Given the description of an element on the screen output the (x, y) to click on. 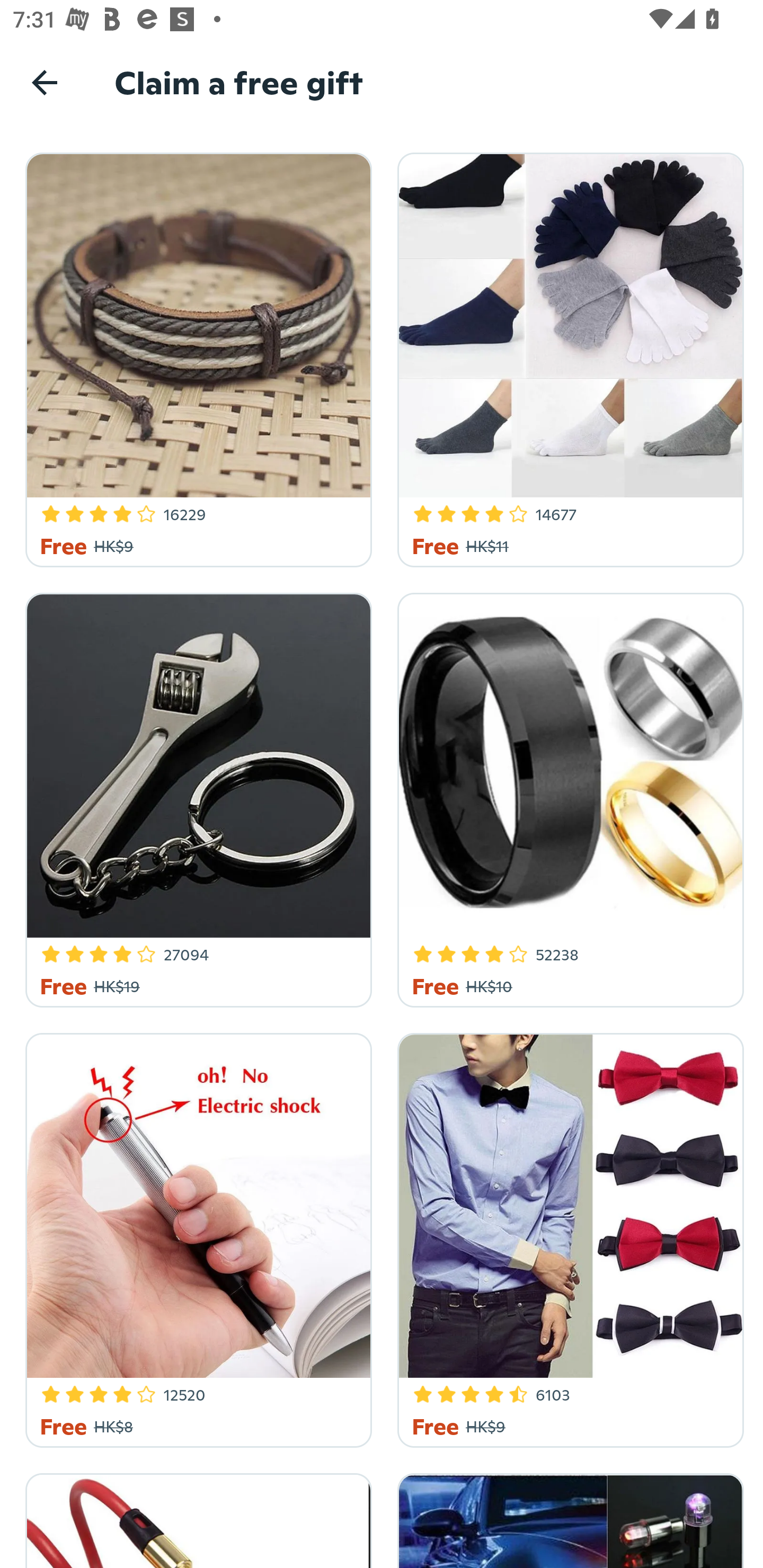
Navigate up (44, 82)
3.8 Star Rating 16229 Free HK$9 (195, 356)
4.2 Star Rating 14677 Free HK$11 (566, 356)
4 Star Rating 27094 Free HK$19 (195, 797)
4.2 Star Rating 52238 Free HK$10 (566, 797)
3.9 Star Rating 12520 Free HK$8 (195, 1237)
4.4 Star Rating 6103 Free HK$9 (566, 1237)
